Given the description of an element on the screen output the (x, y) to click on. 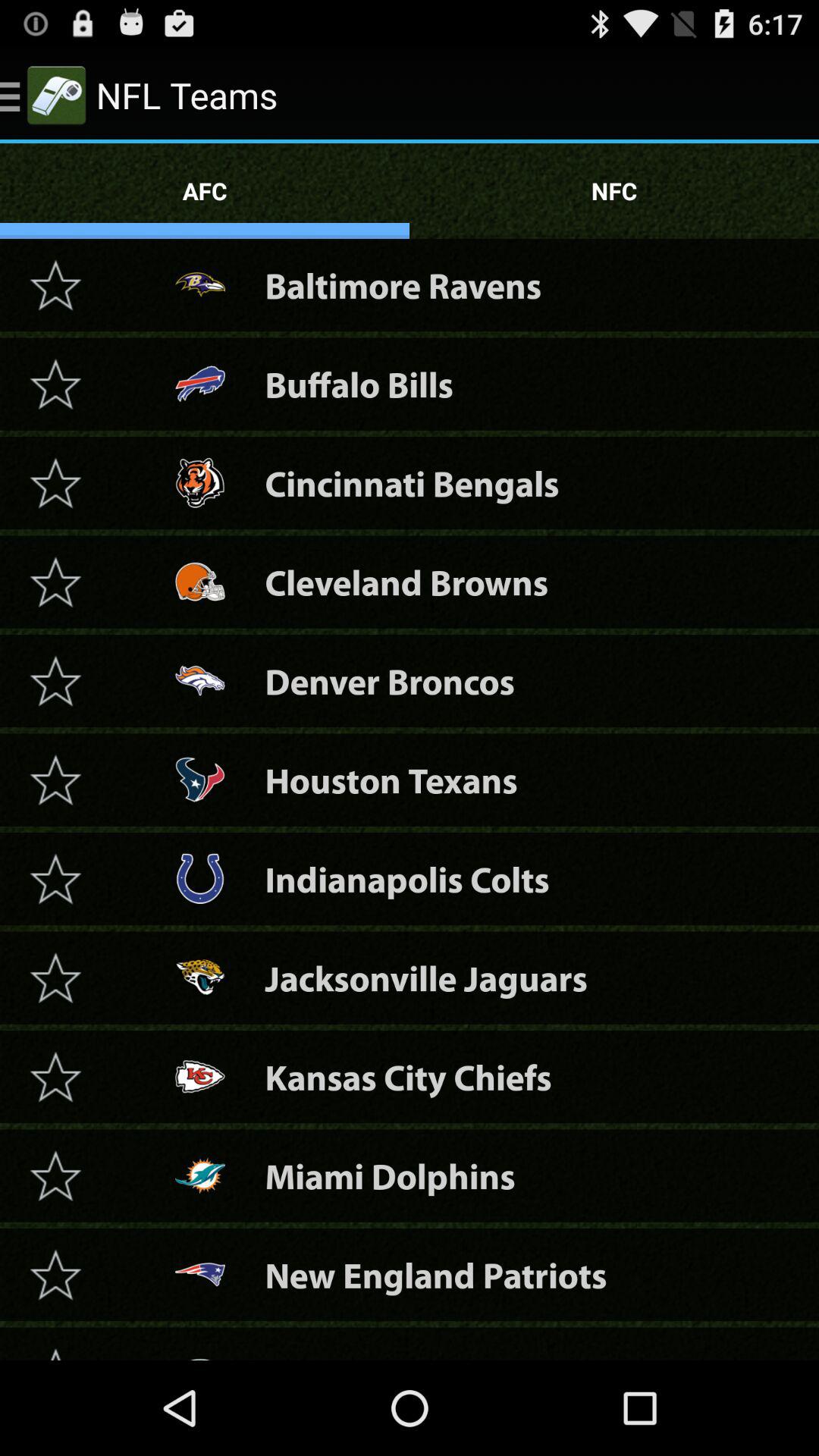
add to favorites (55, 581)
